Given the description of an element on the screen output the (x, y) to click on. 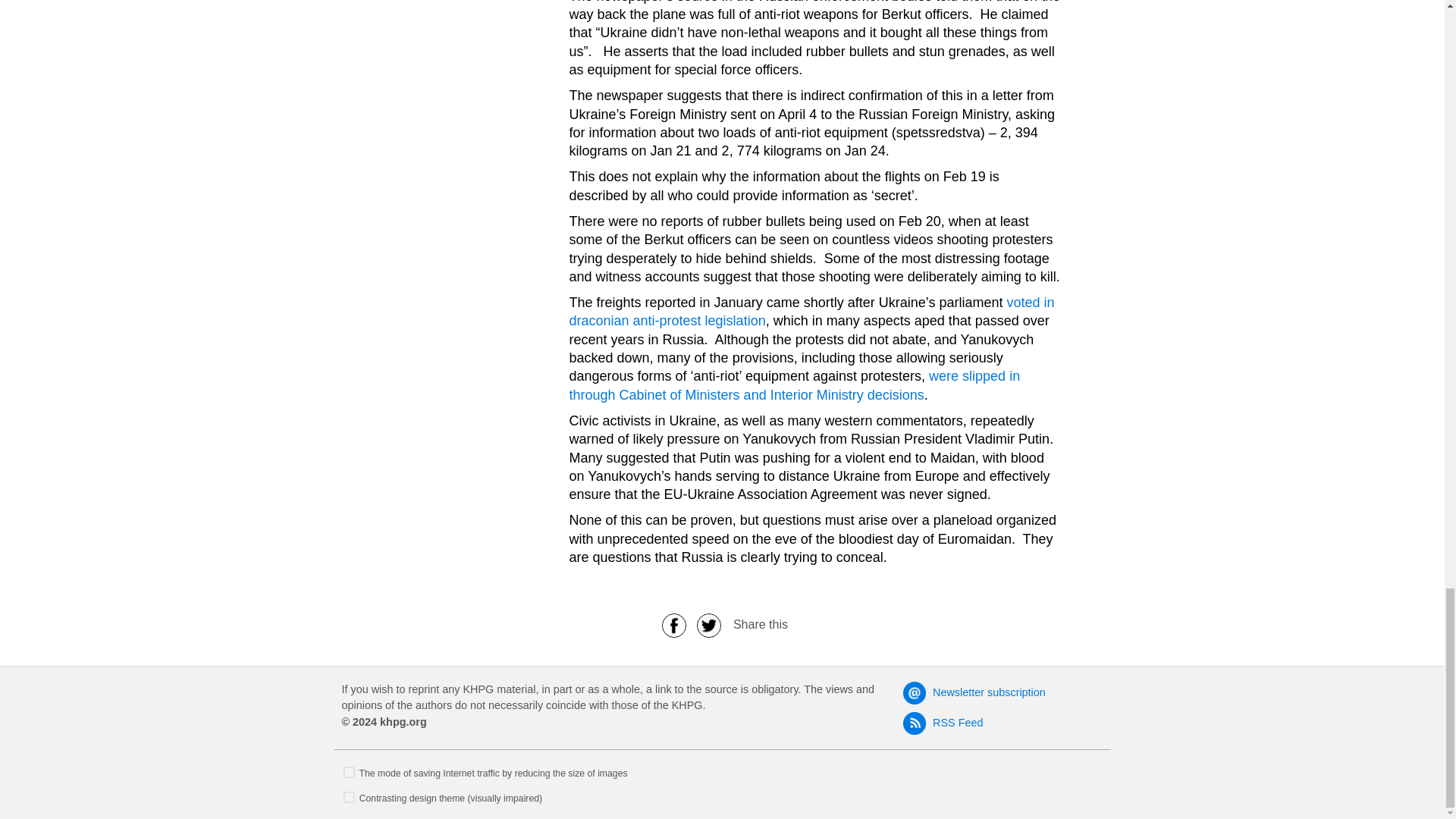
Facebook (673, 624)
Twitter (708, 624)
1 (348, 797)
1 (348, 772)
